Given the description of an element on the screen output the (x, y) to click on. 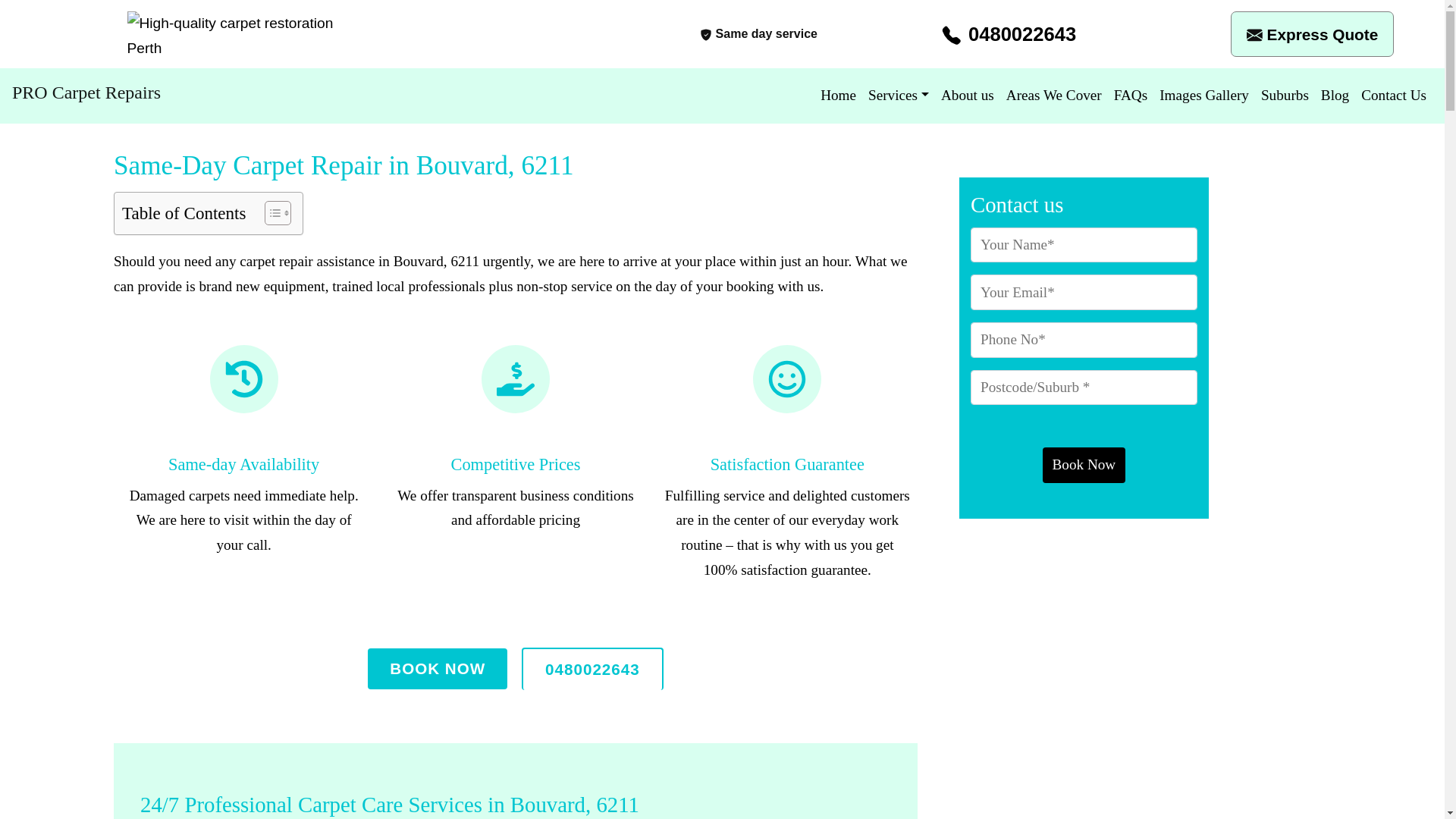
Images Gallery (1204, 95)
Services (897, 95)
0480022643 (1008, 34)
Home (837, 95)
Blog (1334, 95)
FAQs (1130, 95)
BOOK NOW (437, 668)
Areas We Cover (1054, 95)
0480022643 (591, 668)
Suburbs (1284, 95)
FAQs (1130, 95)
PRO Carpet Repairs (85, 92)
Services (897, 95)
Suburbs (1284, 95)
About us (967, 95)
